Given the description of an element on the screen output the (x, y) to click on. 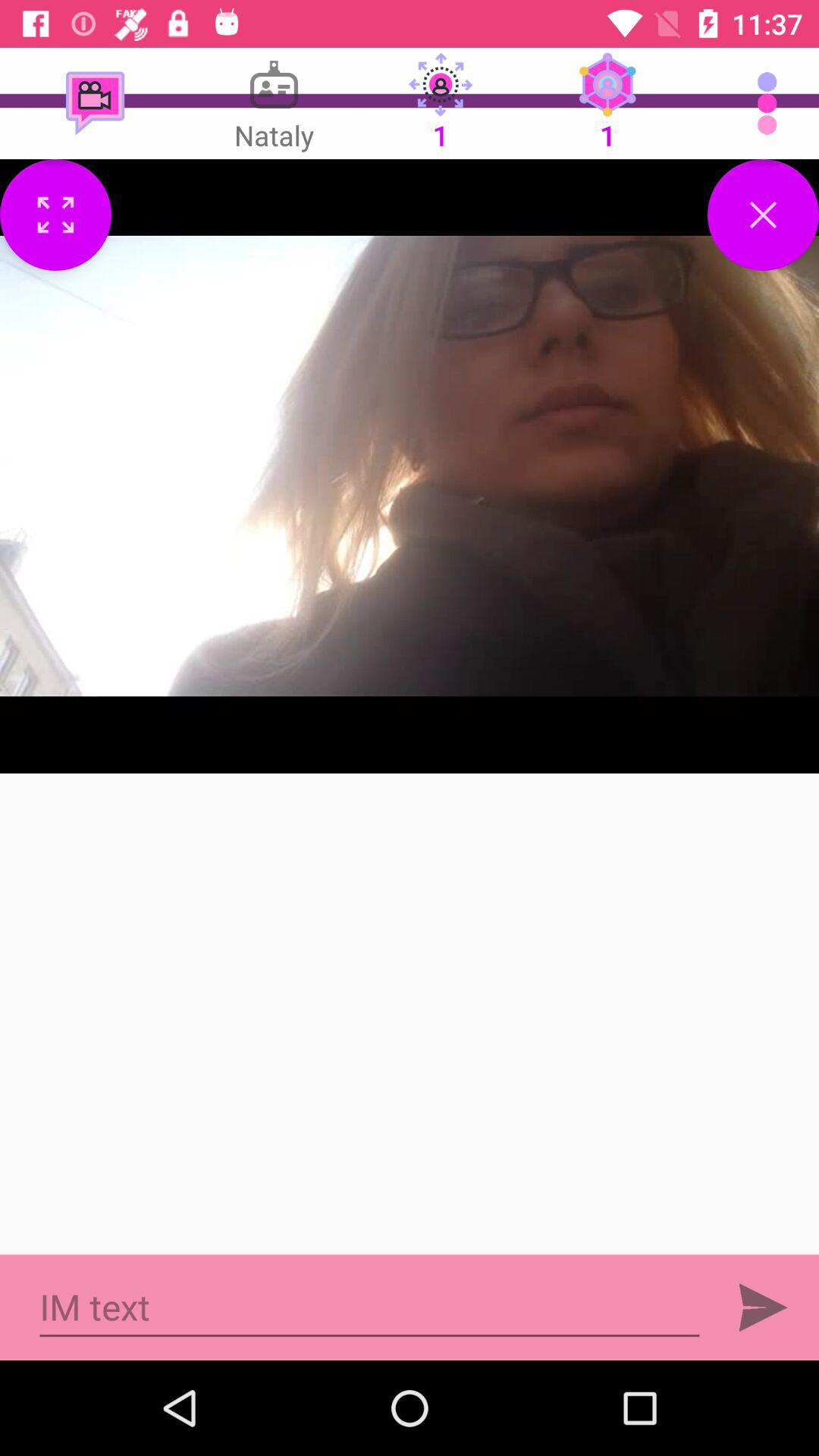
exit (763, 214)
